Given the description of an element on the screen output the (x, y) to click on. 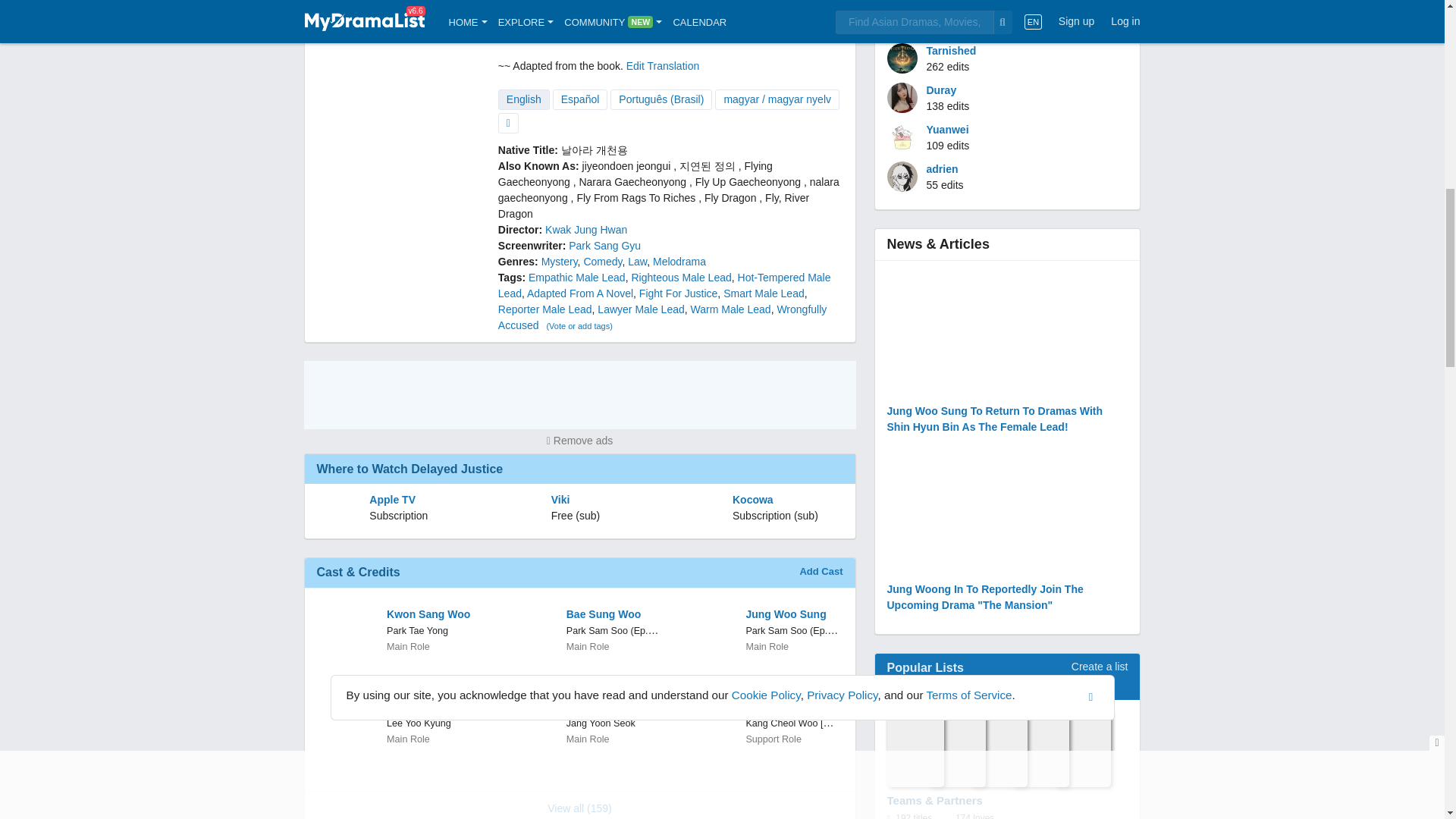
Kwon Sang Woo (433, 614)
Fly Dragon (729, 197)
Fly, River Dragon (653, 205)
Flying Gaecheonyong (635, 173)
Fly Up Gaecheonyong (747, 182)
nalara gaecheonyong (668, 189)
Park Tae Yong (417, 630)
Jung Woo Sung (792, 614)
Narara Gaecheonyong (631, 182)
jiyeondoen jeongui (626, 165)
Bae Sung Woo (613, 614)
Fly From Rags To Riches (635, 197)
